Given the description of an element on the screen output the (x, y) to click on. 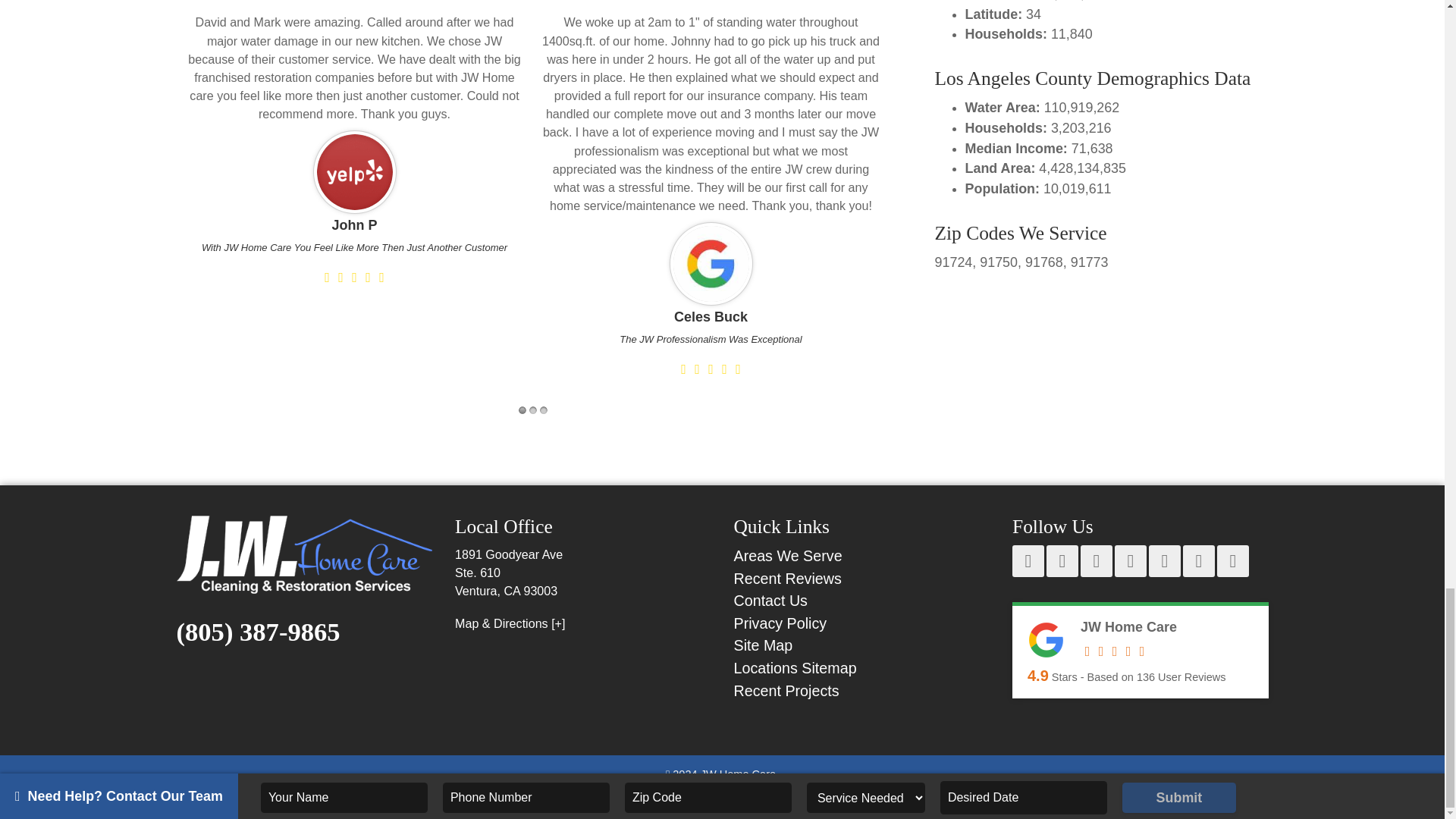
Yelp (1096, 561)
Twitter (1131, 561)
Facebook (1027, 561)
LinkedIn (1198, 561)
Instagram (1164, 561)
